Given the description of an element on the screen output the (x, y) to click on. 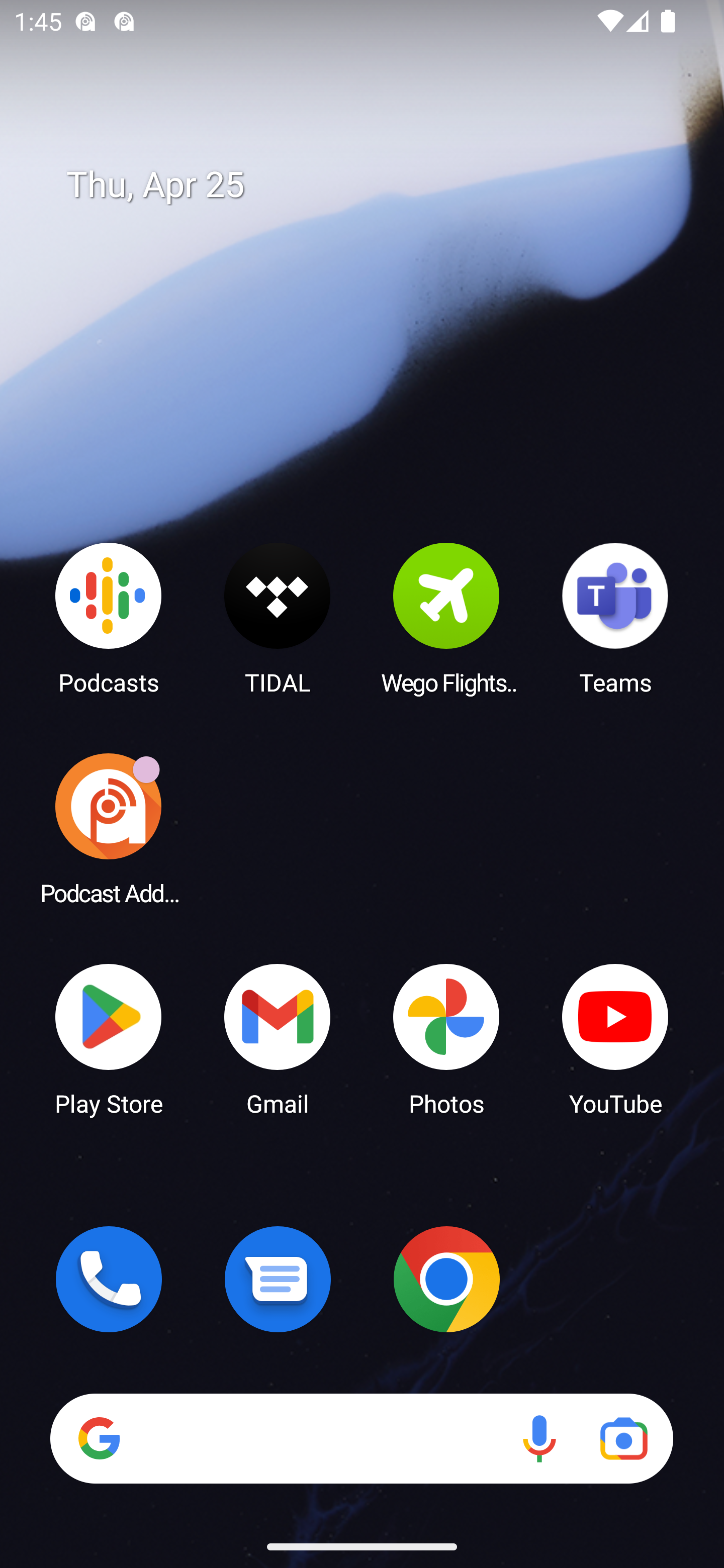
Thu, Apr 25 (375, 184)
Podcasts (108, 617)
TIDAL (277, 617)
Wego Flights & Hotels (445, 617)
Teams (615, 617)
Play Store (108, 1038)
Gmail (277, 1038)
Photos (445, 1038)
YouTube (615, 1038)
Phone (108, 1279)
Messages (277, 1279)
Chrome (446, 1279)
Search Voice search Google Lens (361, 1438)
Voice search (539, 1438)
Google Lens (623, 1438)
